Given the description of an element on the screen output the (x, y) to click on. 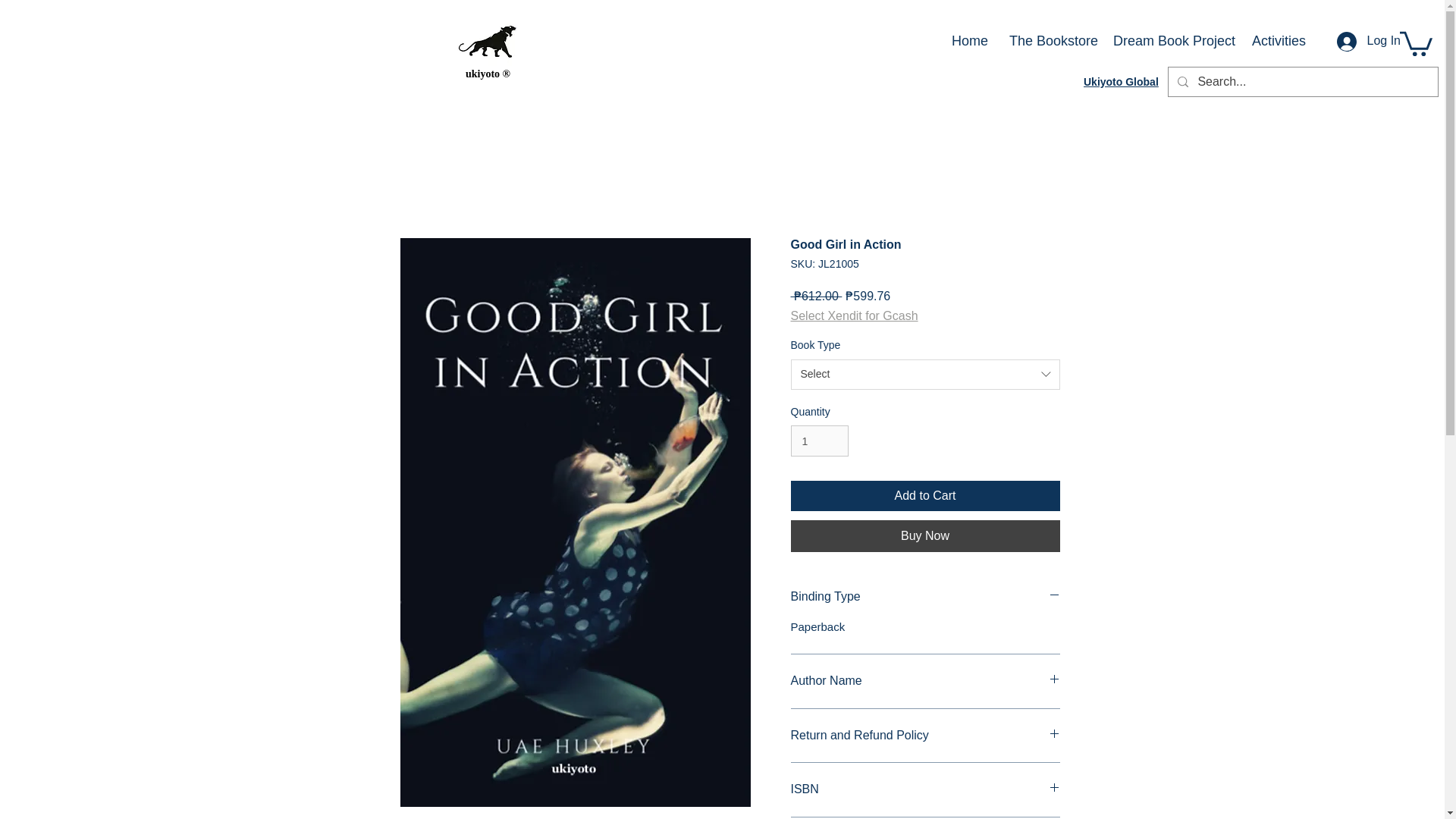
Select Xendit for Gcash (853, 315)
Binding Type (924, 596)
Author Name (924, 680)
Log In (1368, 41)
Add to Cart (924, 495)
Home (968, 40)
Ukiyoto Global (1120, 81)
Activities (1278, 40)
Select (924, 374)
Return and Refund Policy (924, 735)
